Given the description of an element on the screen output the (x, y) to click on. 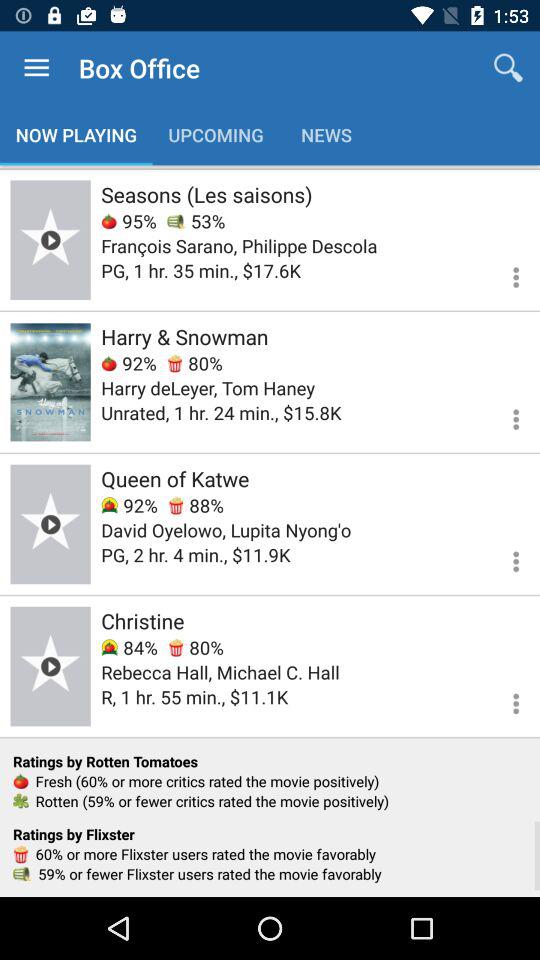
scroll to the 95% icon (128, 220)
